Given the description of an element on the screen output the (x, y) to click on. 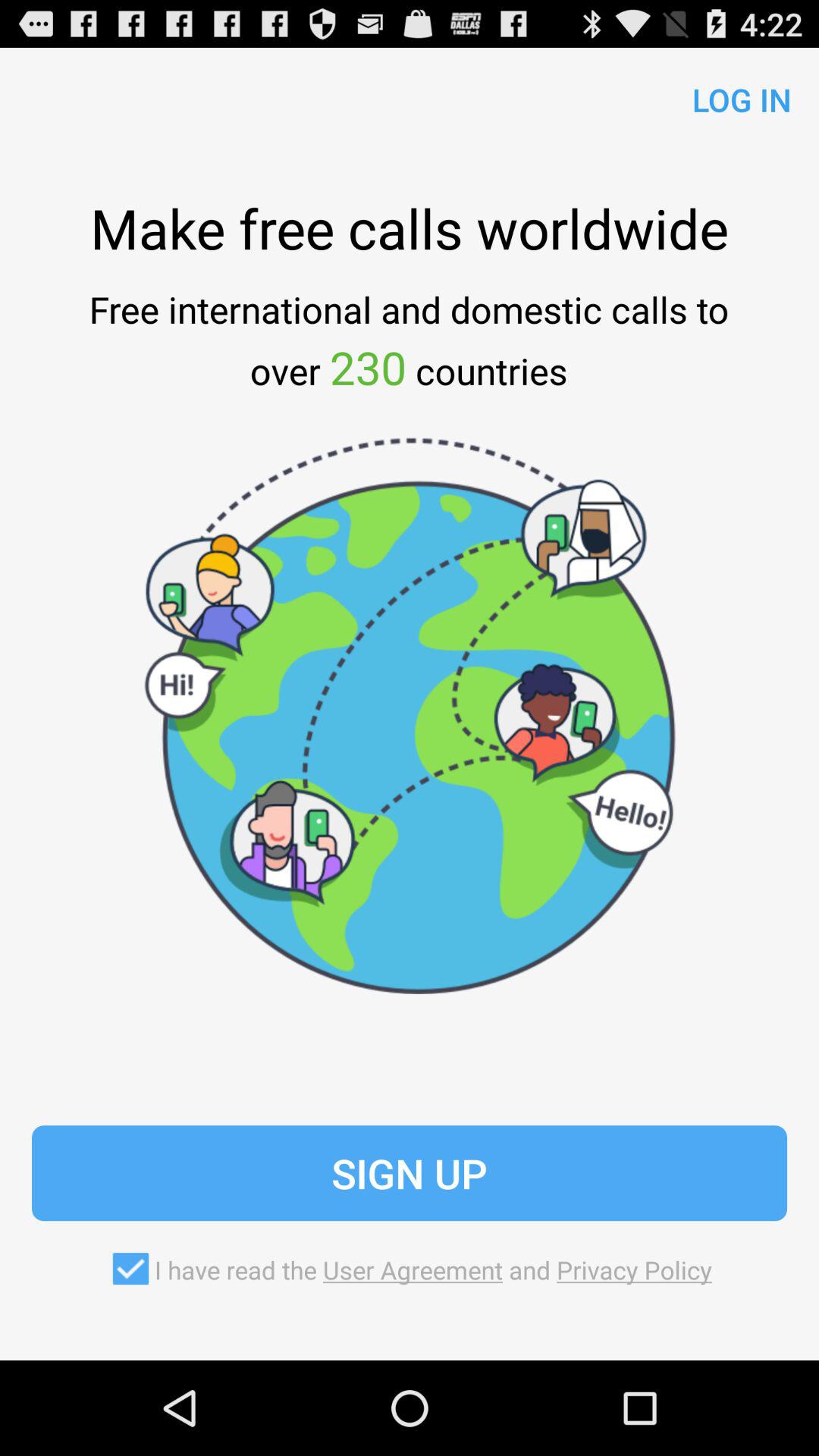
swipe to log in app (735, 96)
